Given the description of an element on the screen output the (x, y) to click on. 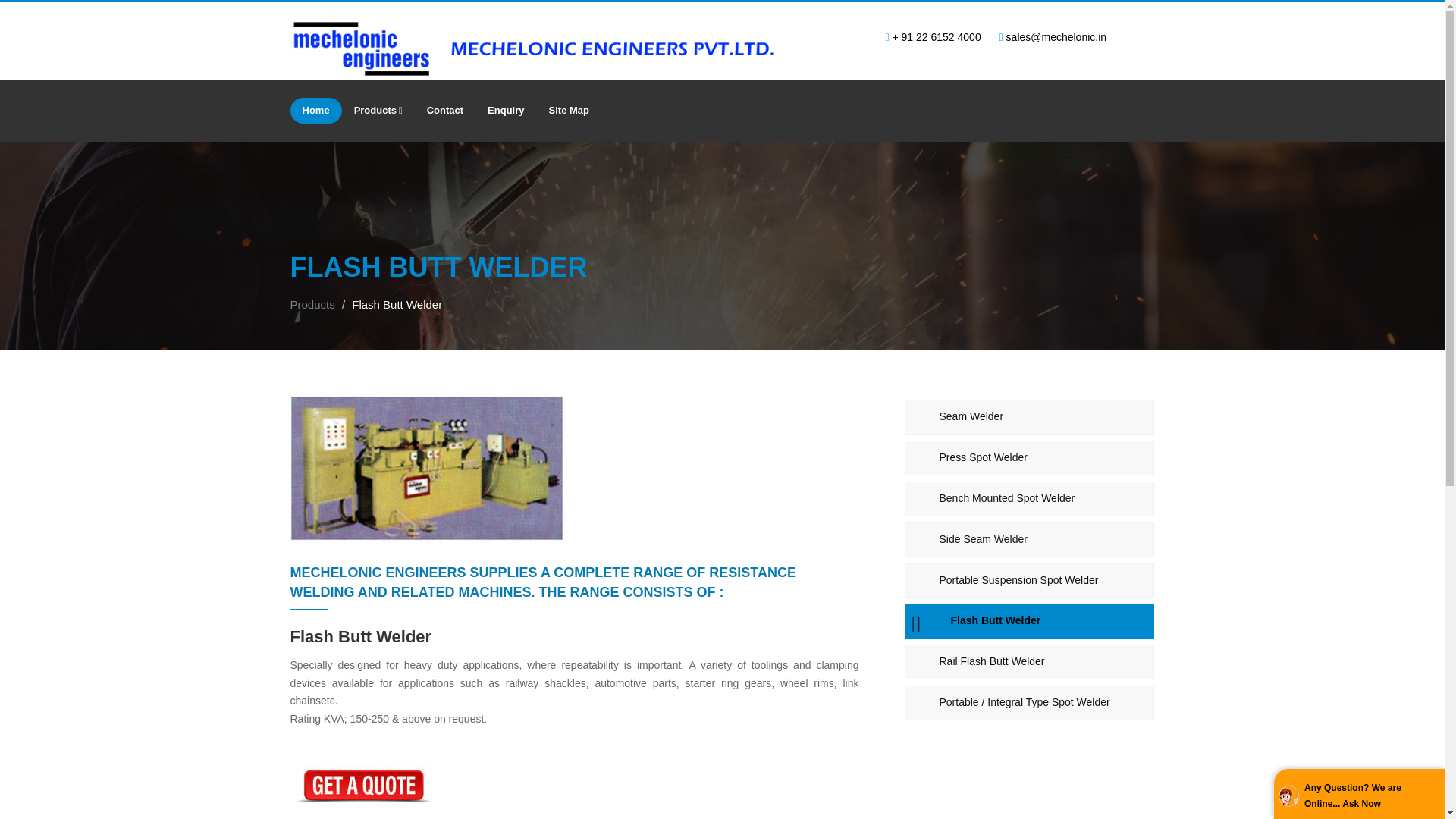
Site Map (569, 110)
Products (311, 304)
Side Seam Welder (1029, 539)
Portable Suspension Spot Welder (1029, 580)
Rail Flash Butt Welder (1029, 661)
Flash Butt Welder (1029, 620)
Enquiry (505, 110)
Contact (445, 110)
Products (378, 110)
Bench Mounted Spot Welder (1029, 498)
